Given the description of an element on the screen output the (x, y) to click on. 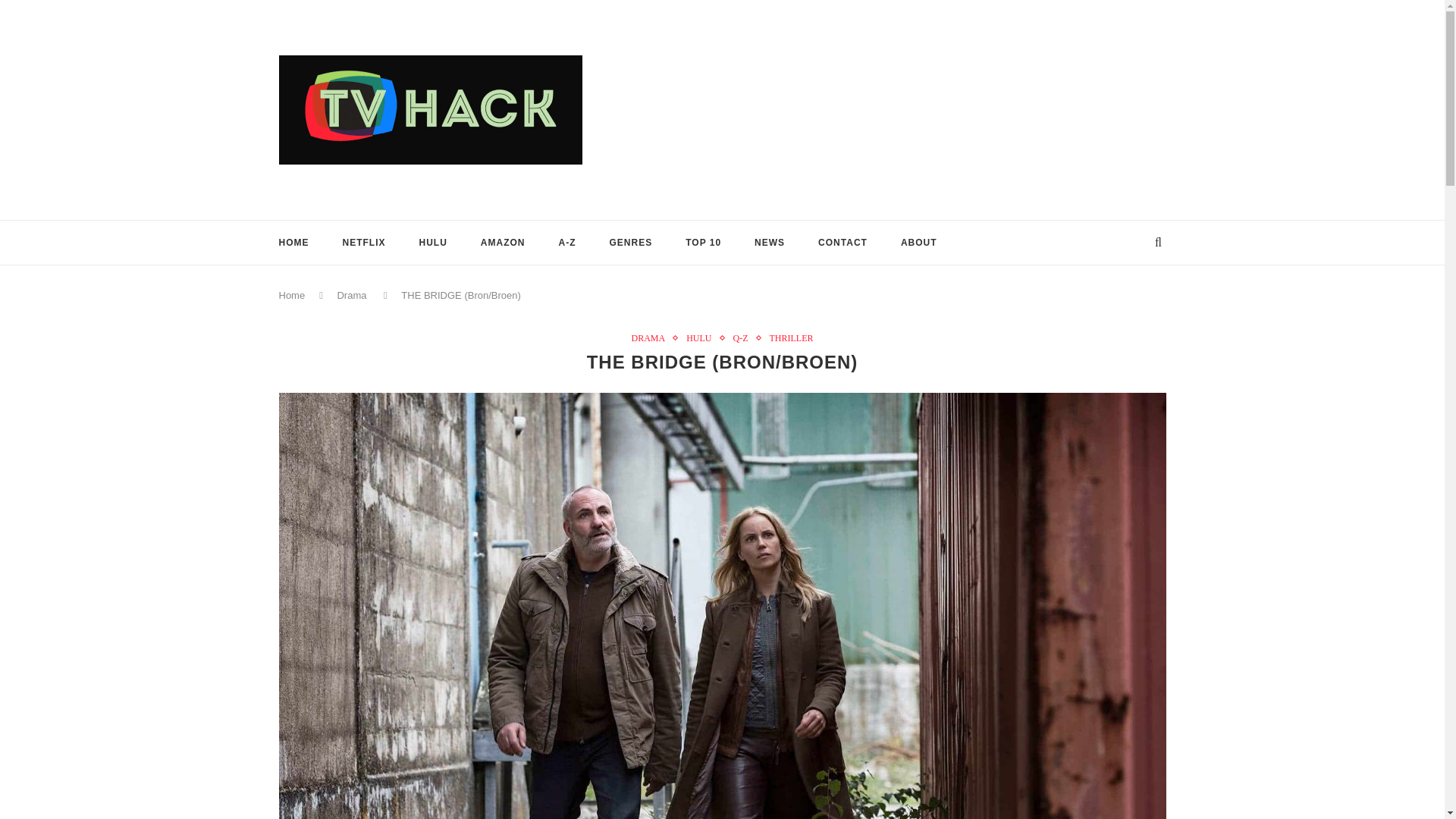
Drama (351, 295)
View all posts in Thriller (790, 337)
CONTACT (842, 241)
GENRES (631, 241)
View all posts in Hulu (702, 337)
AMAZON (502, 241)
Q-Z (743, 337)
Home (292, 295)
NETFLIX (363, 241)
DRAMA (651, 337)
